Given the description of an element on the screen output the (x, y) to click on. 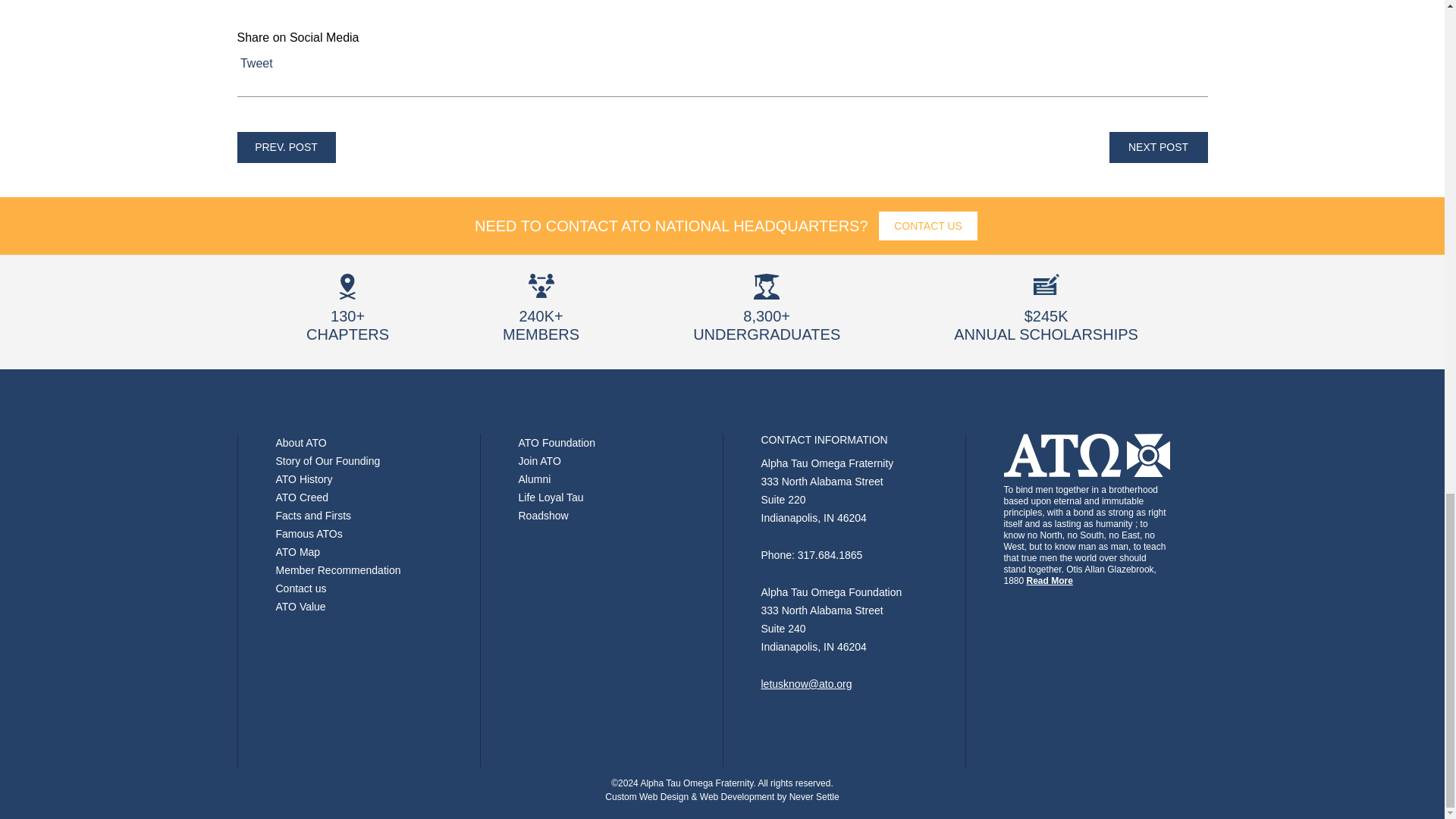
PREV. POST (284, 146)
ATO Value (301, 606)
NEXT POST (1157, 146)
Facts and Firsts (314, 515)
Tweet (256, 62)
Famous ATOs (309, 533)
Member Recommendation (338, 570)
ATO Foundation (556, 442)
CONTACT US (927, 225)
ATO Map (298, 551)
ATO Creed (302, 497)
ATO History (304, 479)
Story of Our Founding (328, 460)
Contact us (301, 588)
About ATO (301, 442)
